Given the description of an element on the screen output the (x, y) to click on. 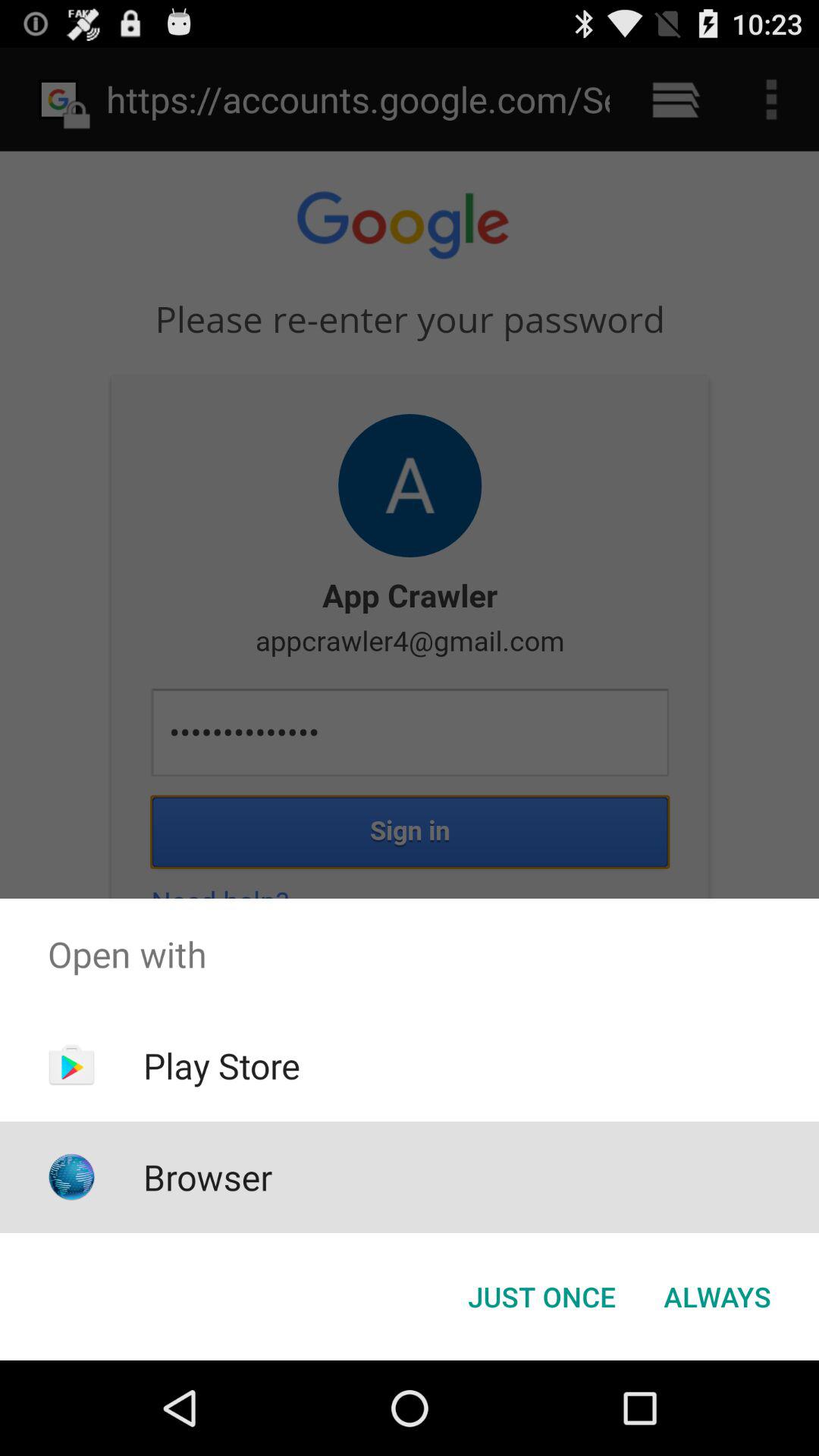
turn off the browser (207, 1176)
